Given the description of an element on the screen output the (x, y) to click on. 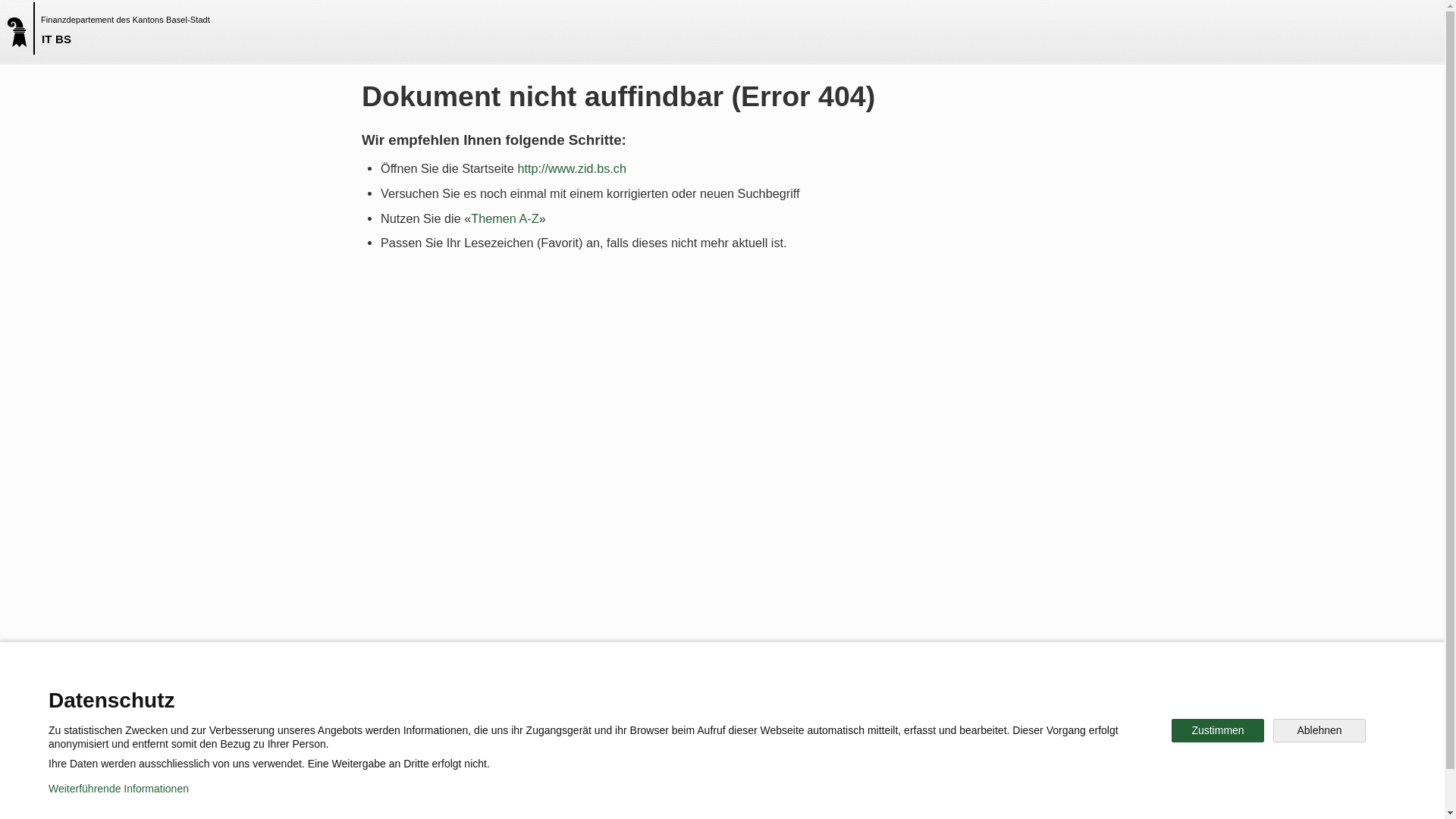
Impressum Element type: text (648, 796)
Ablehnen Element type: text (1319, 730)
Finanzdepartement des Kantons Basel-Stadt
IT BS Element type: text (24, 28)
Nutzungsregelungen Element type: text (542, 796)
Zur mobilen Ansicht Element type: text (752, 796)
Themen A-Z Element type: text (504, 217)
http://www.zid.bs.ch Element type: text (571, 168)
Zustimmen Element type: text (1217, 730)
